Given the description of an element on the screen output the (x, y) to click on. 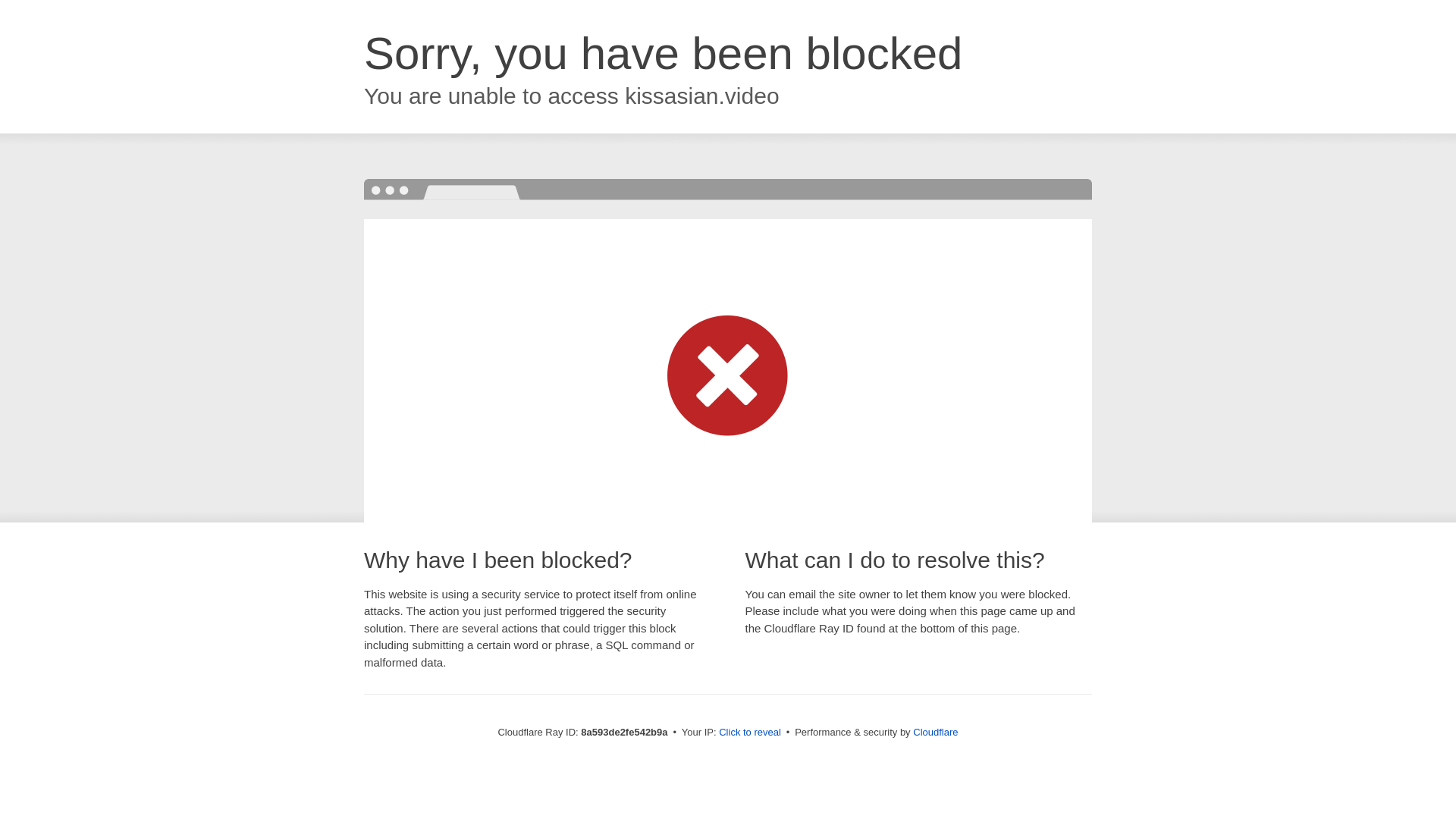
Cloudflare (935, 731)
Click to reveal (749, 732)
